Given the description of an element on the screen output the (x, y) to click on. 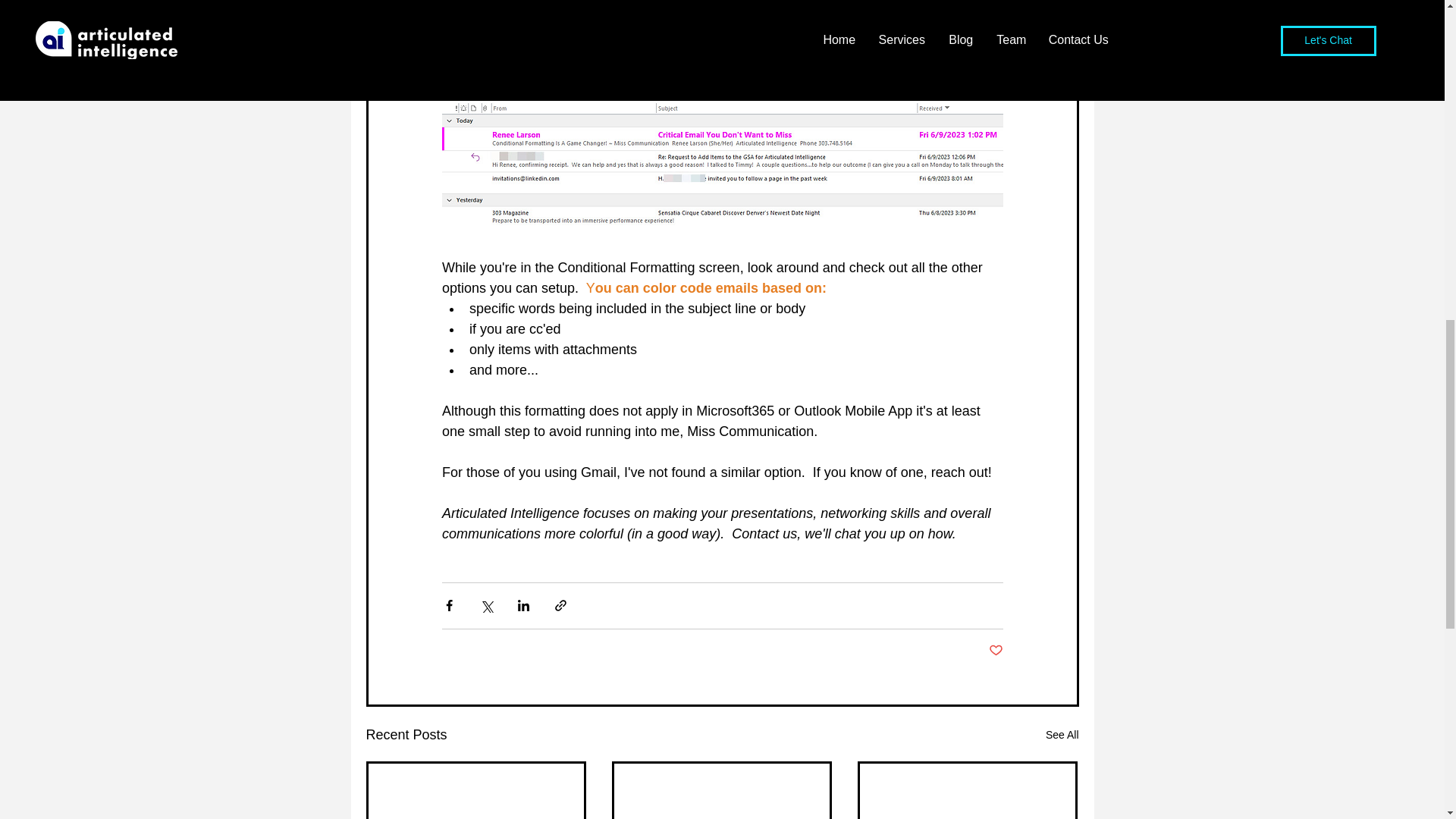
See All (1061, 734)
Post not marked as liked (995, 650)
